Given the description of an element on the screen output the (x, y) to click on. 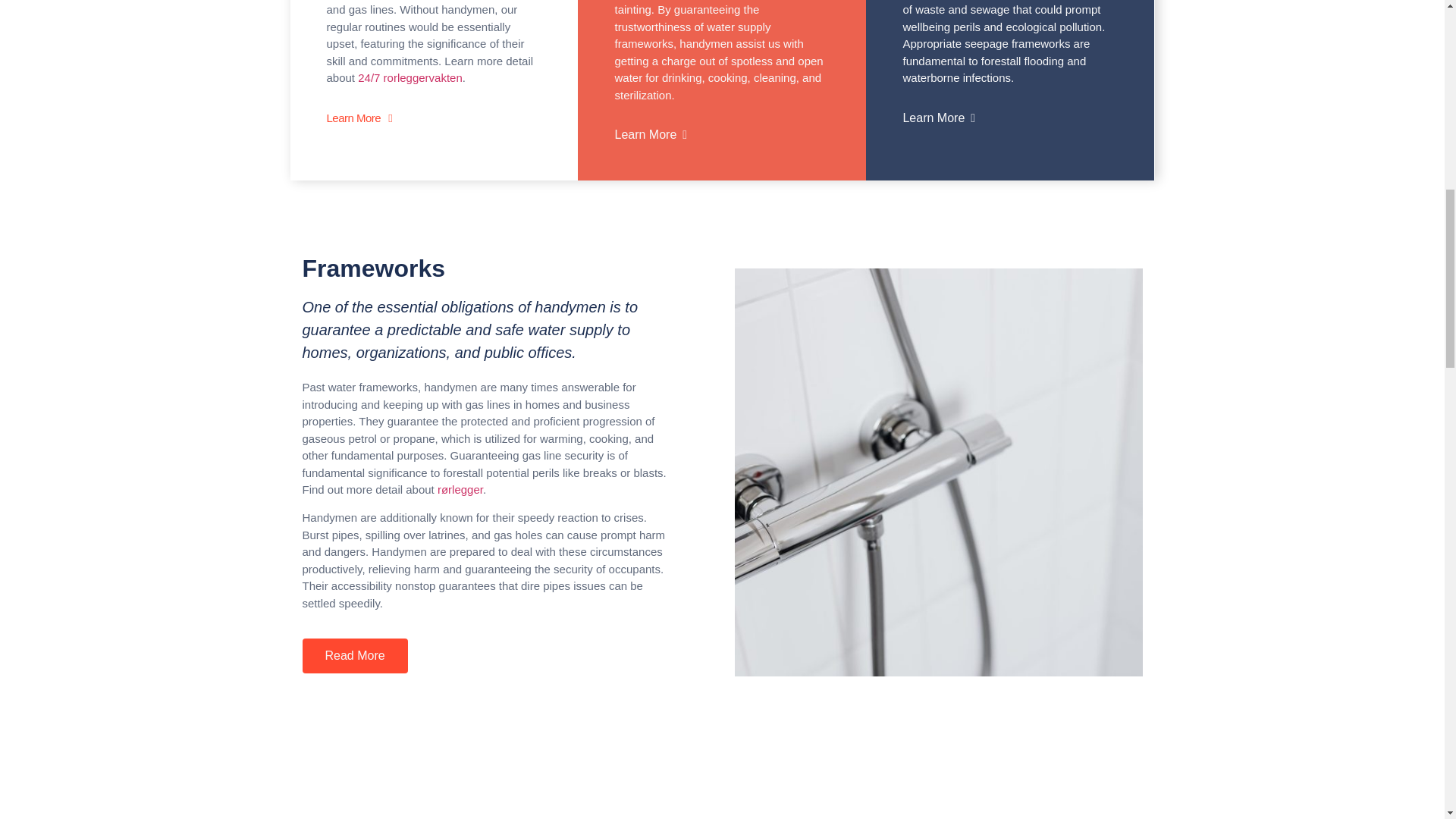
Learn More (650, 172)
Read More (354, 655)
Learn More (358, 161)
Learn More (938, 146)
